Given the description of an element on the screen output the (x, y) to click on. 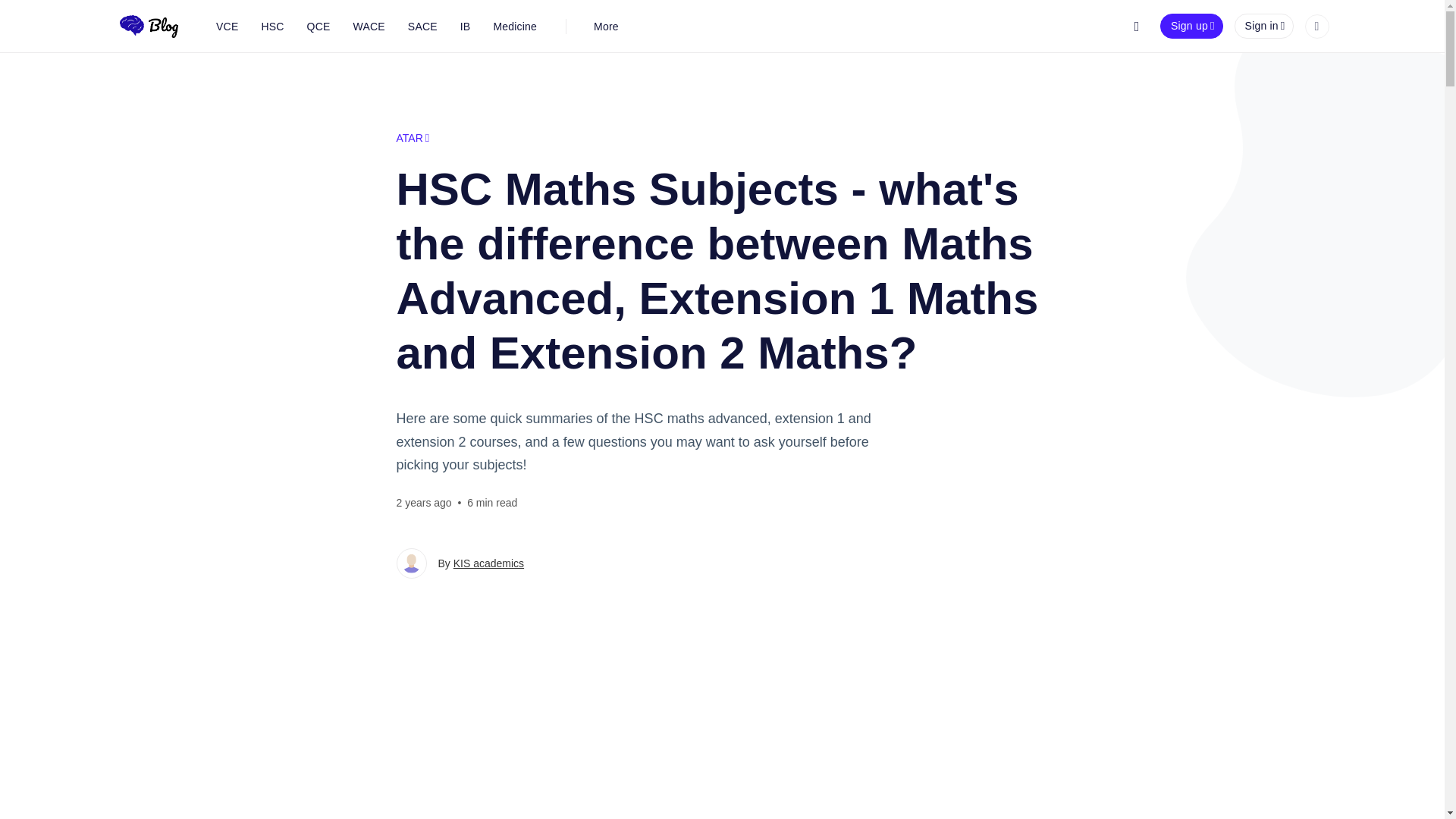
Medicine (514, 26)
KIS Academics Blog (148, 25)
KIS academics (488, 563)
HSC (271, 26)
More (606, 26)
SACE (422, 26)
Sign in (1264, 25)
Sign up (1191, 25)
VCE (226, 26)
QCE (318, 26)
WACE (369, 26)
IB (464, 26)
ATAR (412, 138)
